Given the description of an element on the screen output the (x, y) to click on. 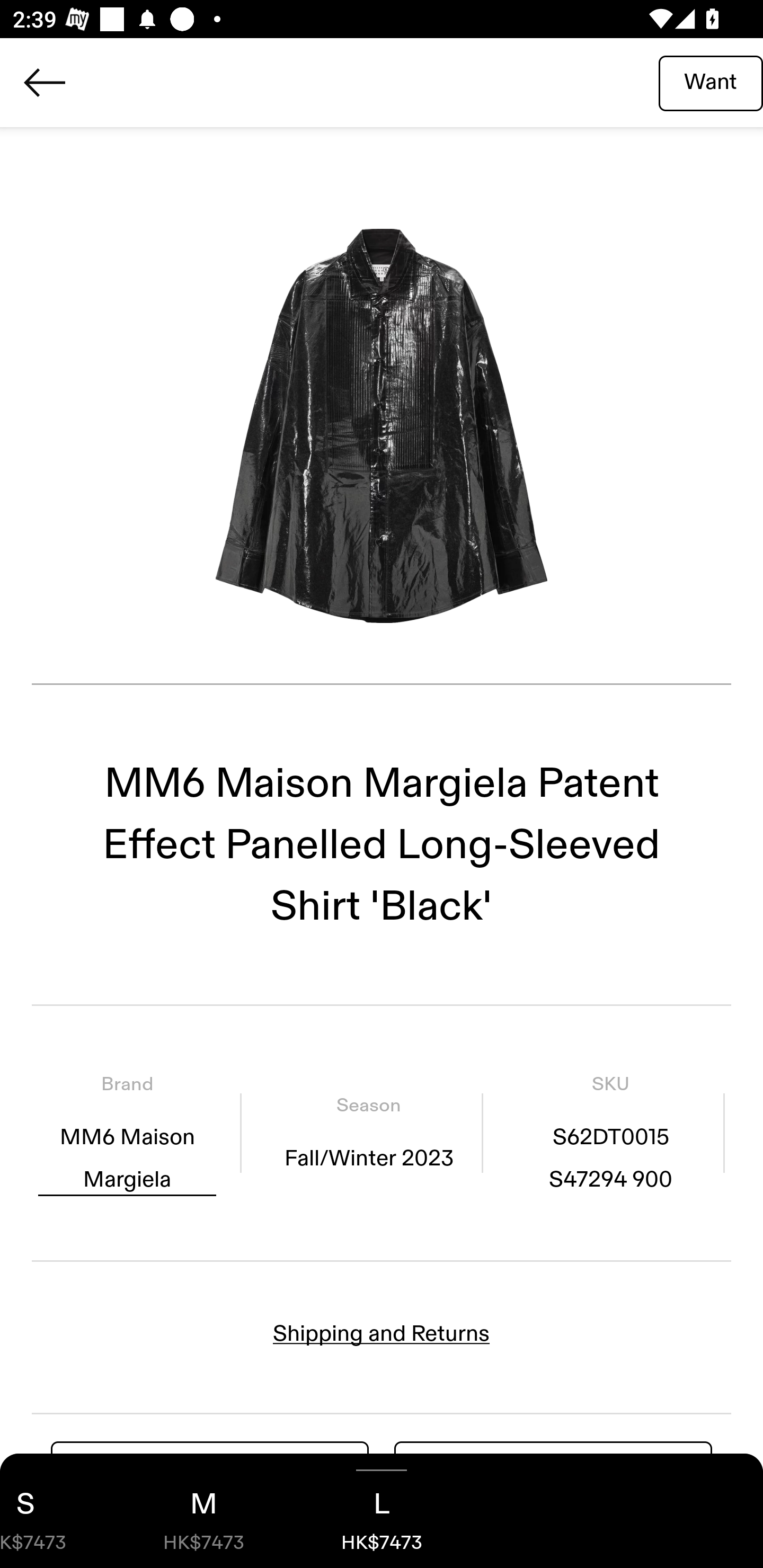
Want (710, 82)
Brand MM6 Maison Margiela (126, 1133)
Season Fall/Winter 2023 (368, 1133)
SKU S62DT0015 S47294 900 (609, 1133)
Shipping and Returns (381, 1333)
S HK$7473 (57, 1510)
M HK$7473 (203, 1510)
L HK$7473 (381, 1510)
